Given the description of an element on the screen output the (x, y) to click on. 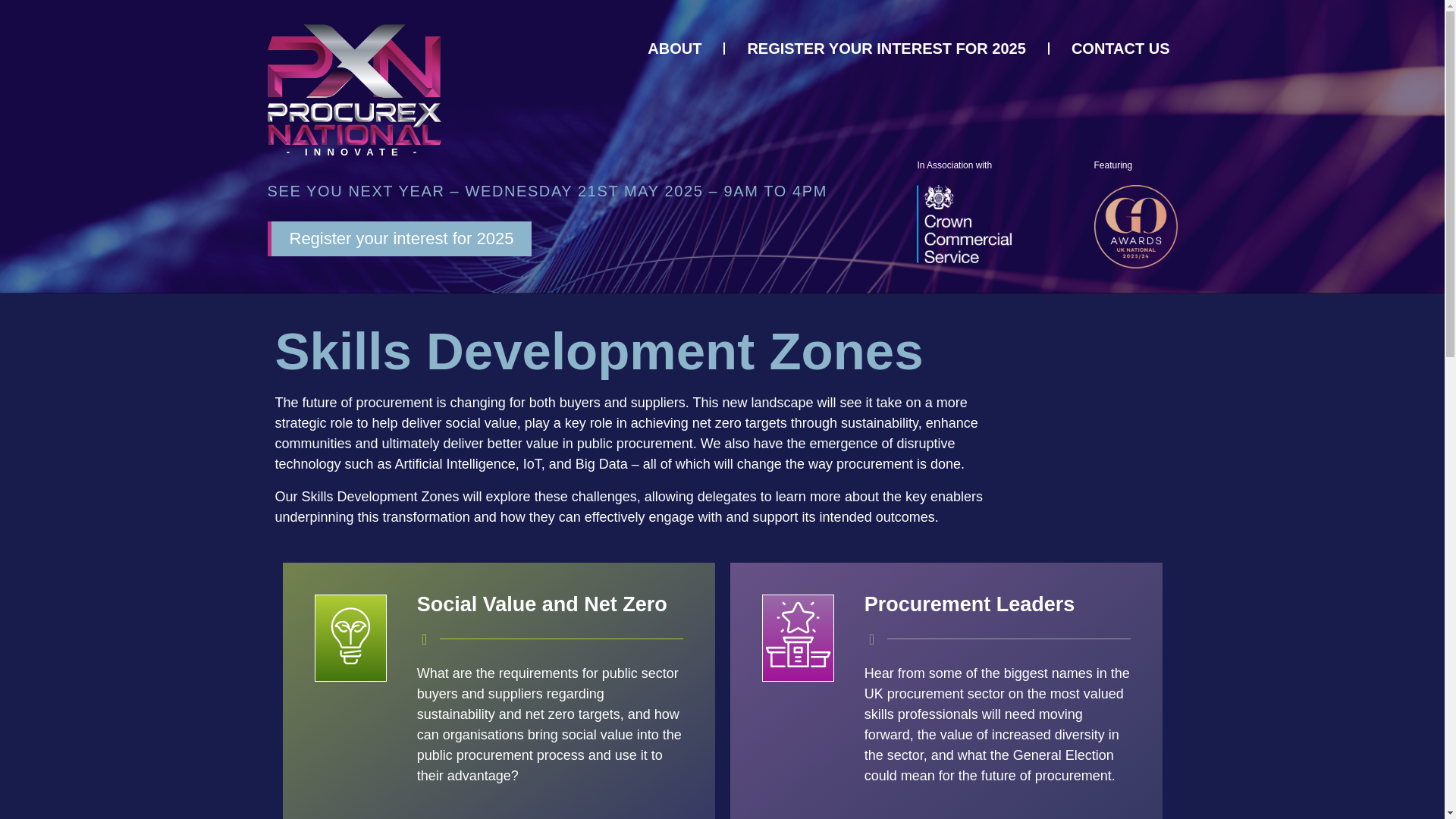
Procurement Leaders (969, 603)
Social Value and Net Zero (541, 603)
CONTACT US (1120, 48)
ABOUT (674, 48)
REGISTER YOUR INTEREST FOR 2025 (886, 48)
Register your interest for 2025 (398, 238)
